Given the description of an element on the screen output the (x, y) to click on. 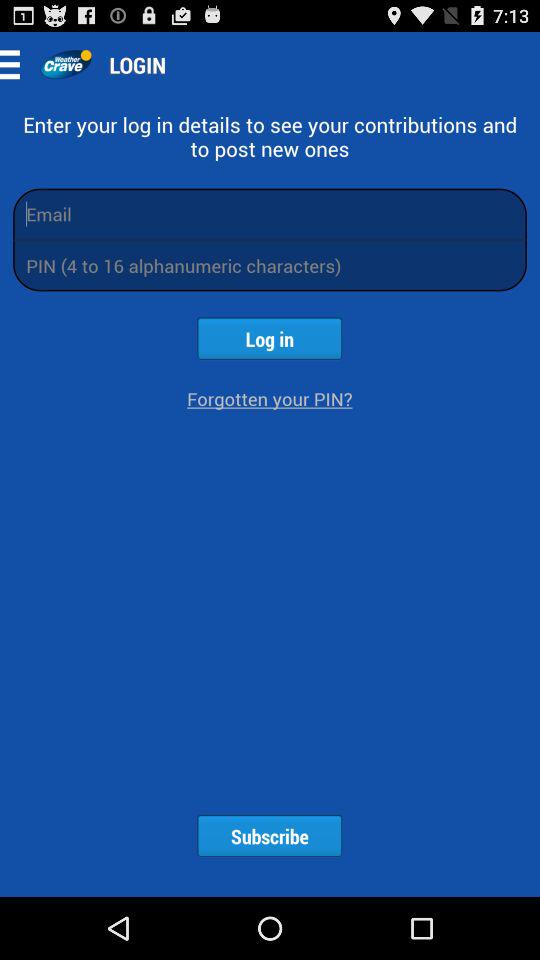
tap the app to the left of login app (65, 64)
